Given the description of an element on the screen output the (x, y) to click on. 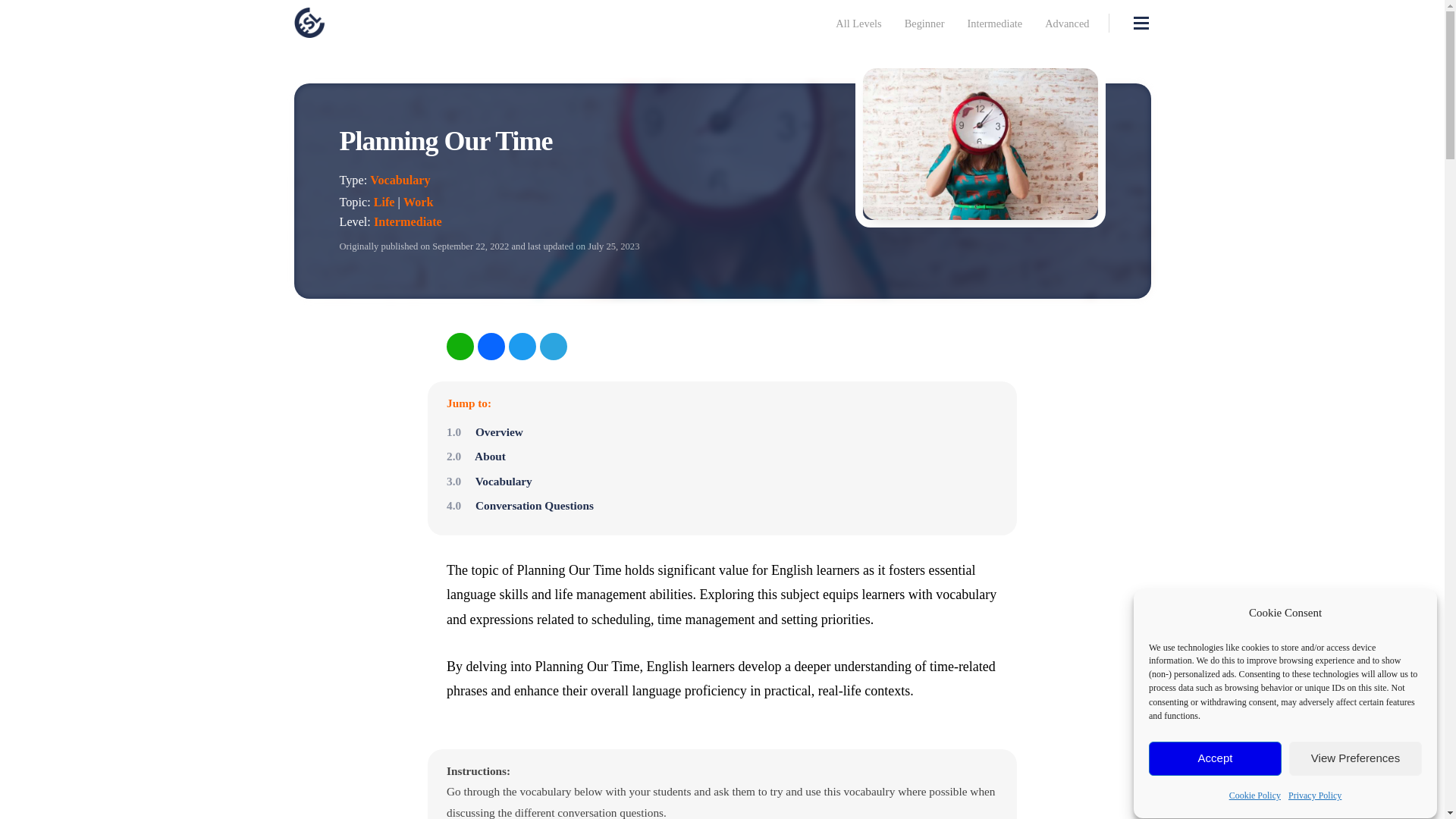
Intermediate (408, 222)
Advanced (1067, 23)
Beginner (925, 23)
Cookie Policy (1254, 807)
Privacy Policy (1314, 803)
View Preferences (1355, 792)
Work (418, 202)
Intermediate (994, 23)
Overview (484, 431)
Accept (1214, 808)
Vocabulary (399, 180)
Home (390, 22)
Life (384, 202)
Vocabulary (489, 481)
About (475, 455)
